Given the description of an element on the screen output the (x, y) to click on. 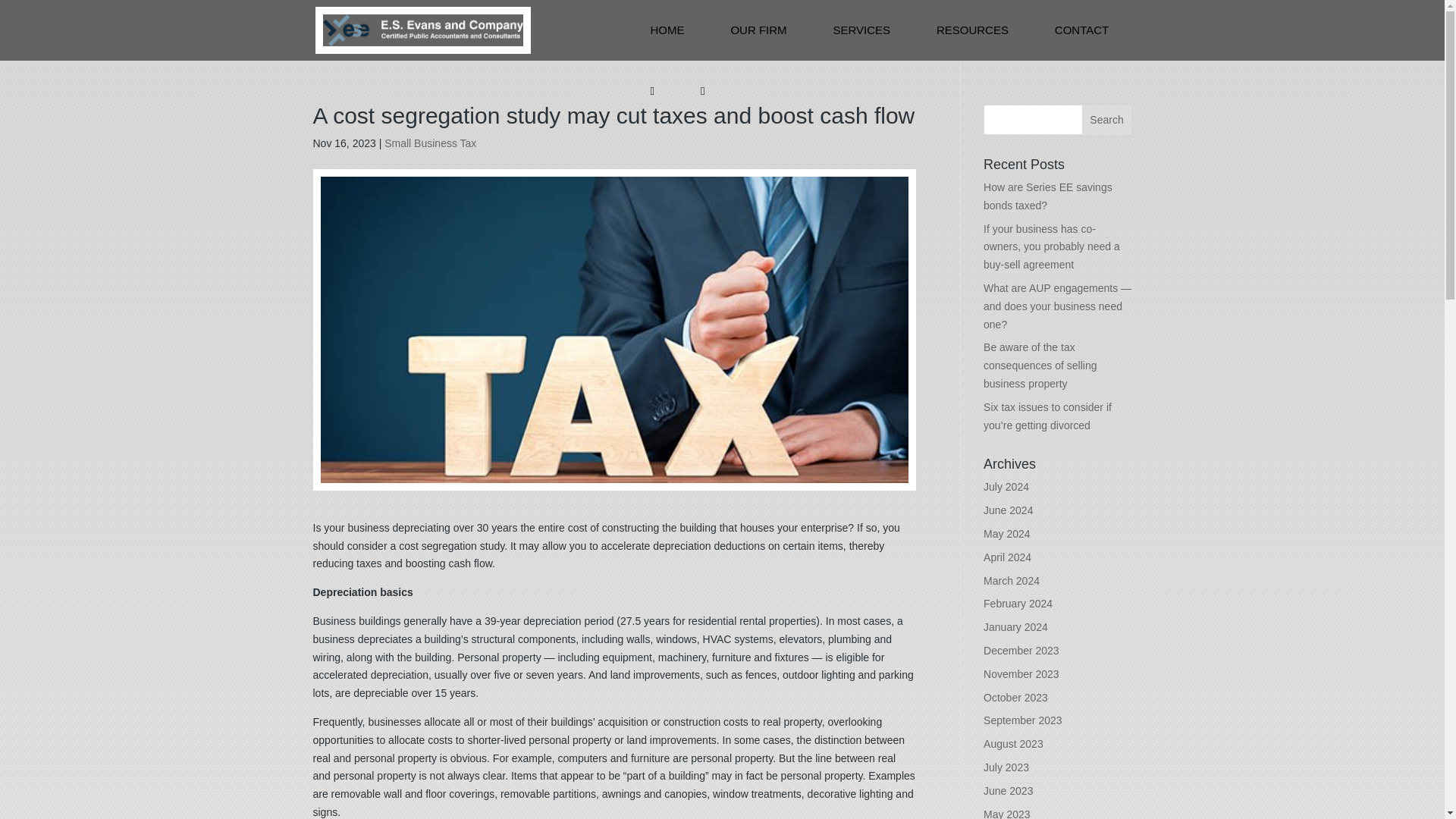
RESOURCES (972, 30)
OUR FIRM (758, 30)
HOME (667, 30)
Search (1106, 119)
Small Business Tax (430, 143)
CONTACT (1081, 30)
SERVICES (860, 30)
